Given the description of an element on the screen output the (x, y) to click on. 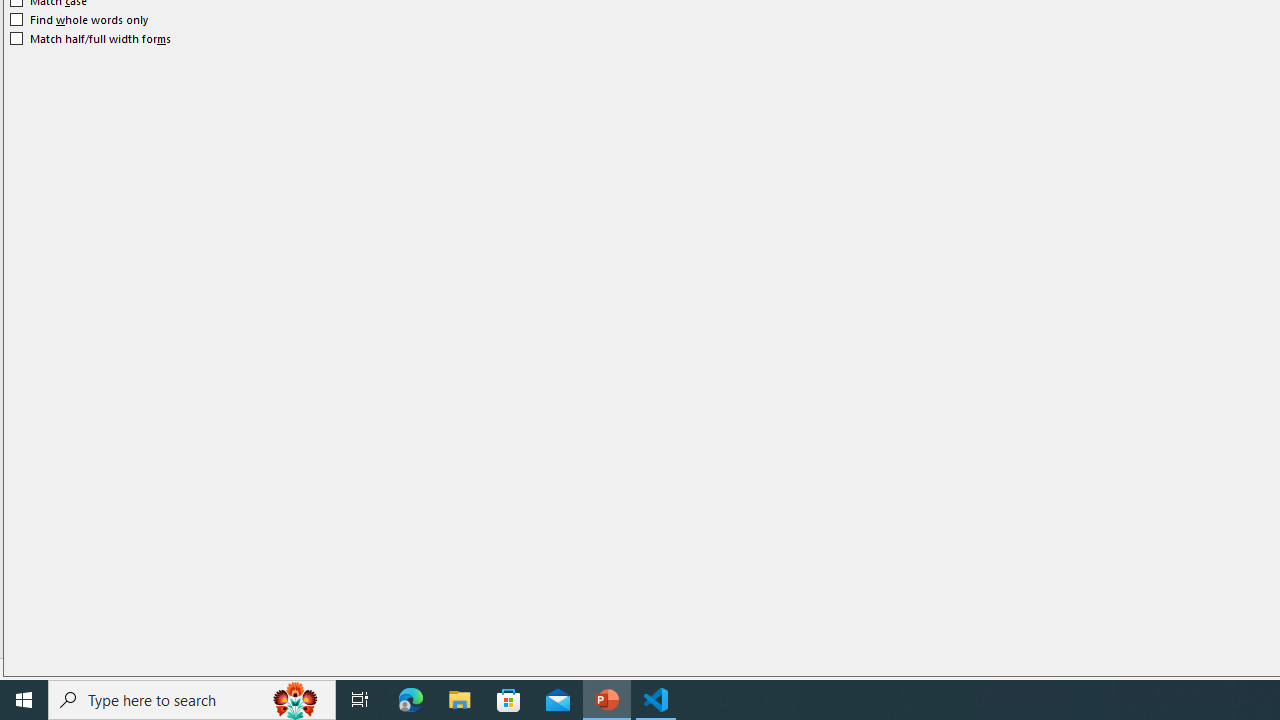
Match half/full width forms (91, 38)
Find whole words only (79, 20)
